Given the description of an element on the screen output the (x, y) to click on. 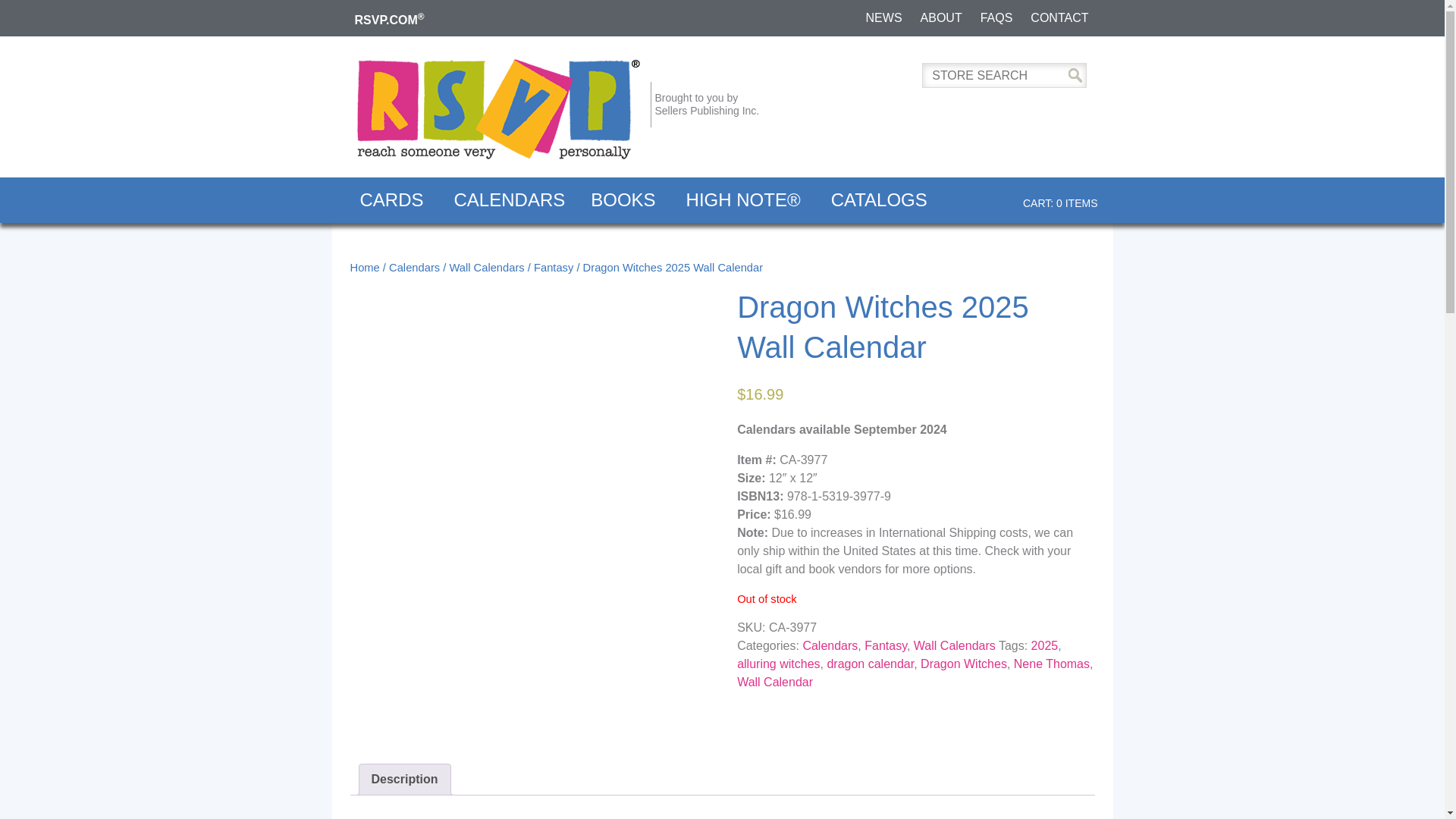
FAQS (996, 18)
CONTACT (1059, 18)
ABOUT (941, 18)
CALENDARS (509, 199)
NEWS (884, 18)
Search for: (1003, 75)
CARDS (394, 199)
